Given the description of an element on the screen output the (x, y) to click on. 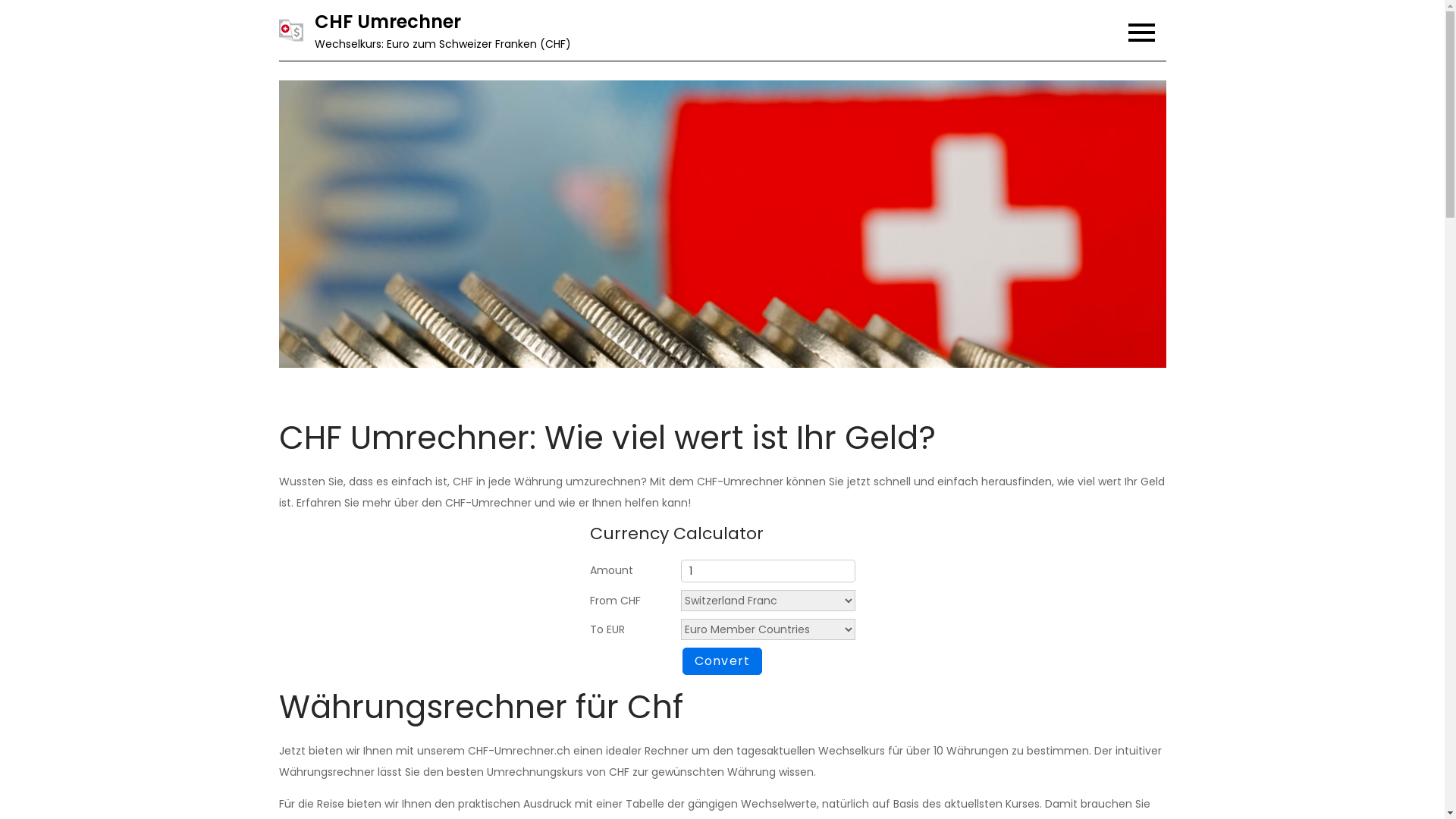
Convert Element type: text (722, 660)
CHF Umrechner Element type: text (386, 21)
